Given the description of an element on the screen output the (x, y) to click on. 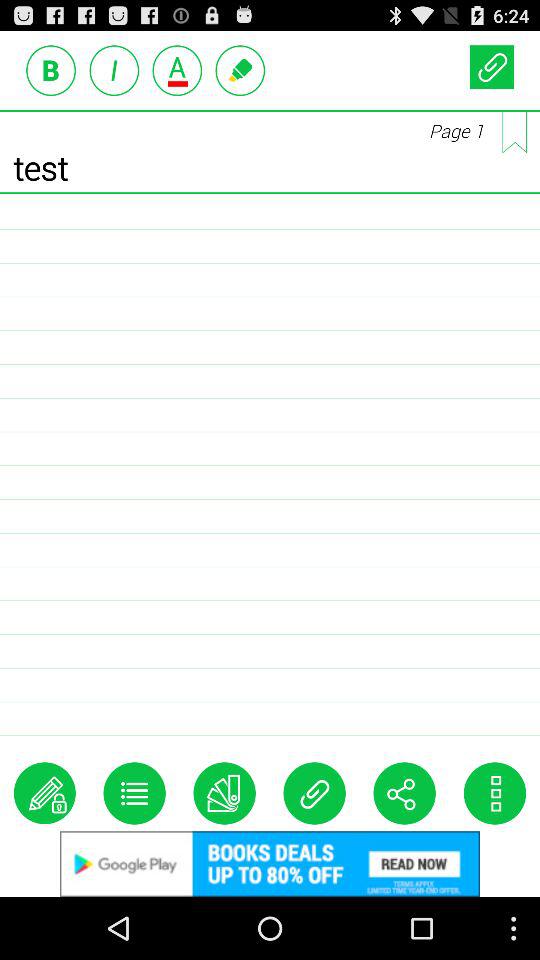
set page as favorite (514, 132)
